Given the description of an element on the screen output the (x, y) to click on. 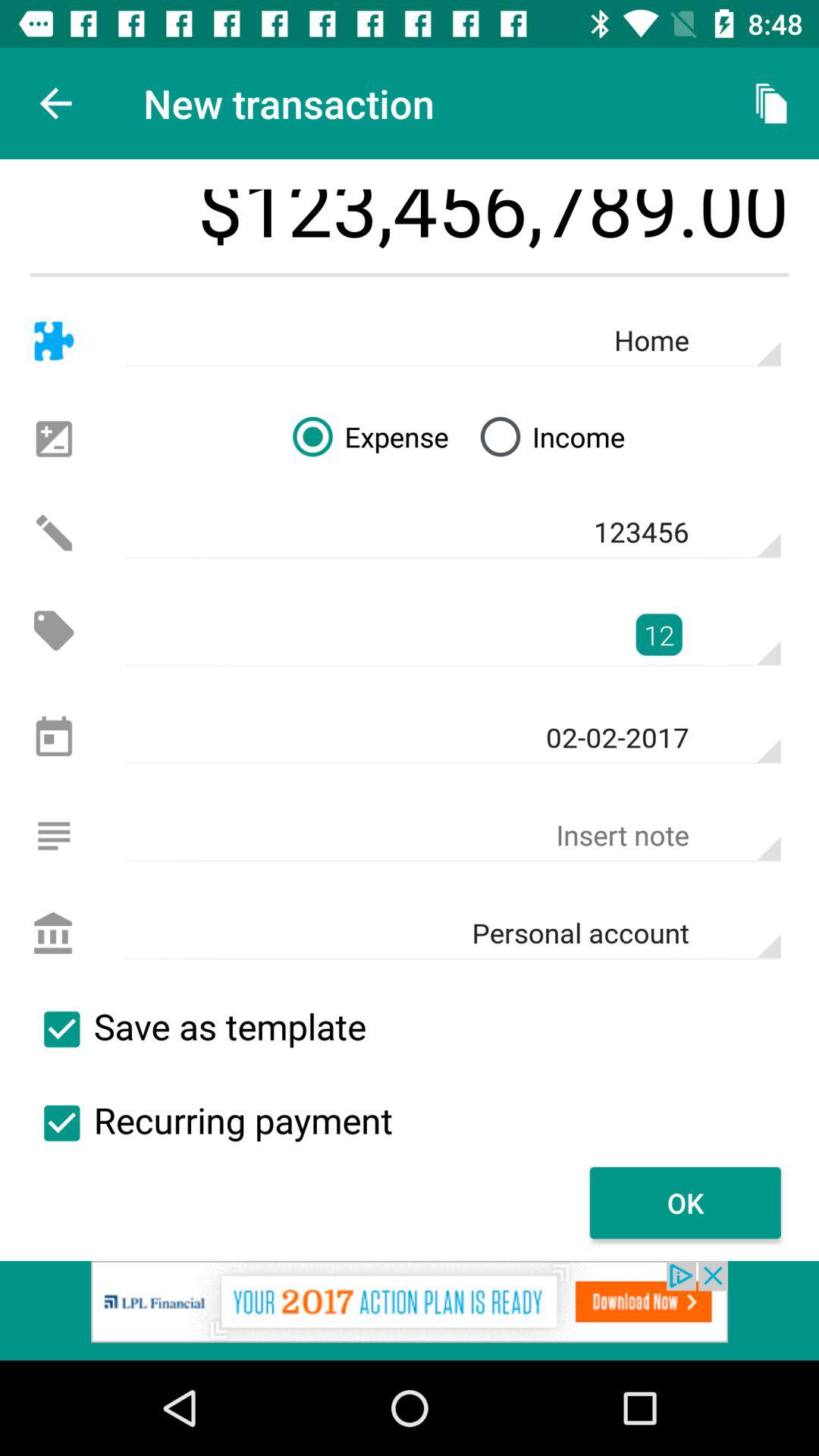
more information about an advertisement (409, 1310)
